Given the description of an element on the screen output the (x, y) to click on. 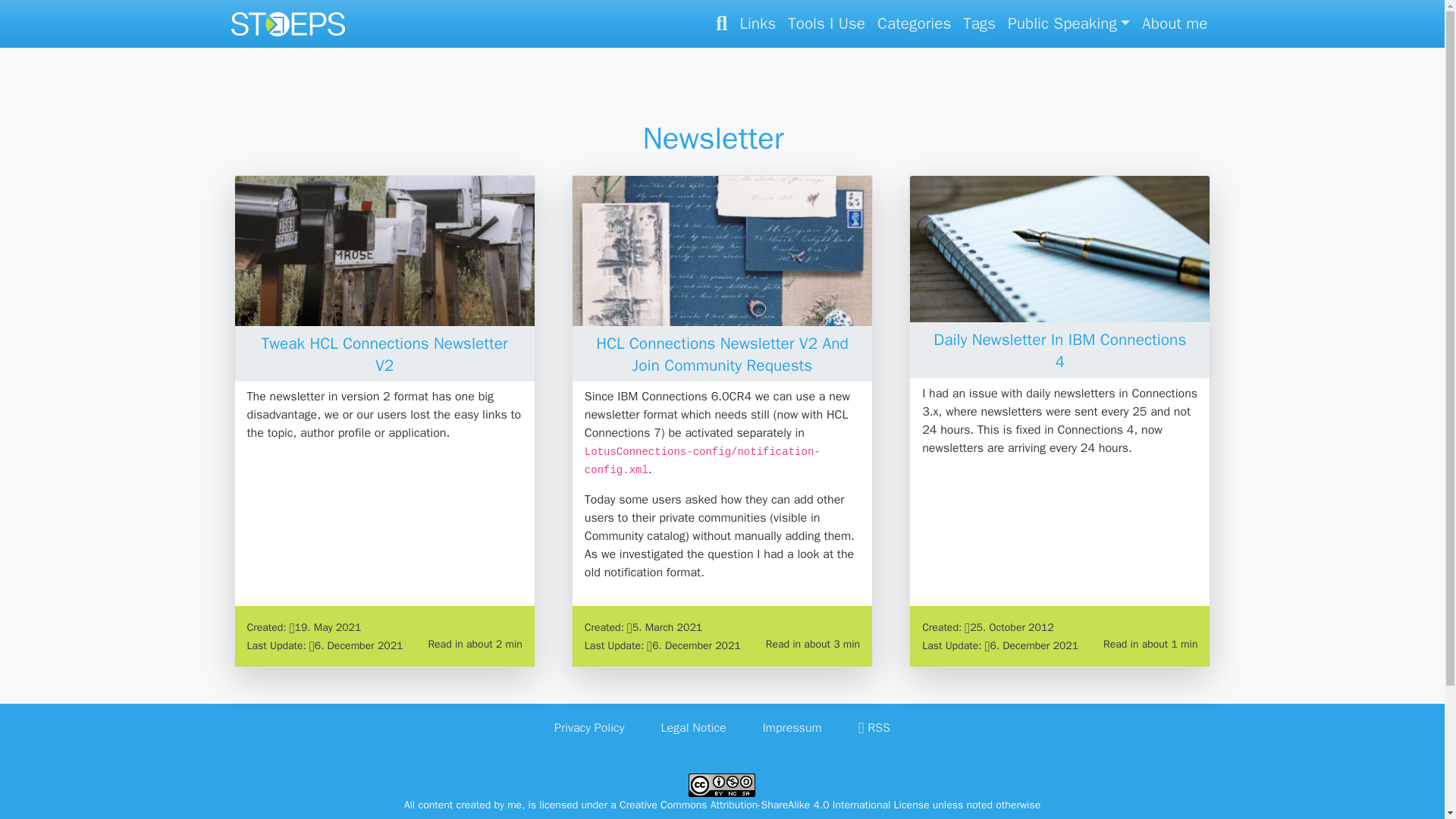
Tweak HCL Connections Newsletter V2 (385, 354)
Categories (913, 23)
Tags (978, 23)
Tools I Use (825, 23)
Privacy Policy (589, 727)
About me (1173, 23)
Public Speaking (1068, 23)
Impressum (792, 727)
Links (757, 23)
Daily Newsletter In IBM Connections 4 (1059, 350)
